Given the description of an element on the screen output the (x, y) to click on. 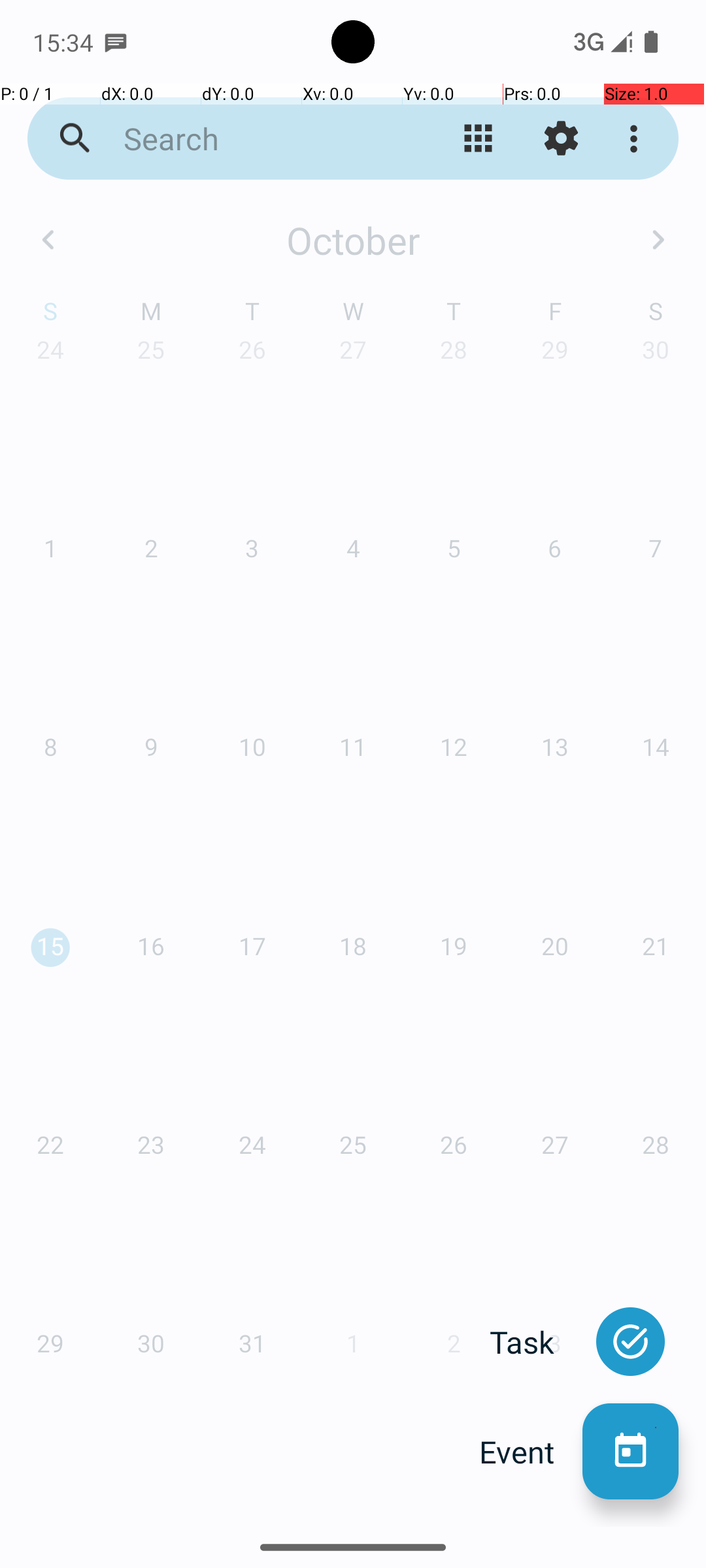
Task Element type: android.widget.TextView (535, 1341)
Event Element type: android.widget.TextView (530, 1451)
SMS Messenger notification: +10214033213 Element type: android.widget.ImageView (115, 41)
